Given the description of an element on the screen output the (x, y) to click on. 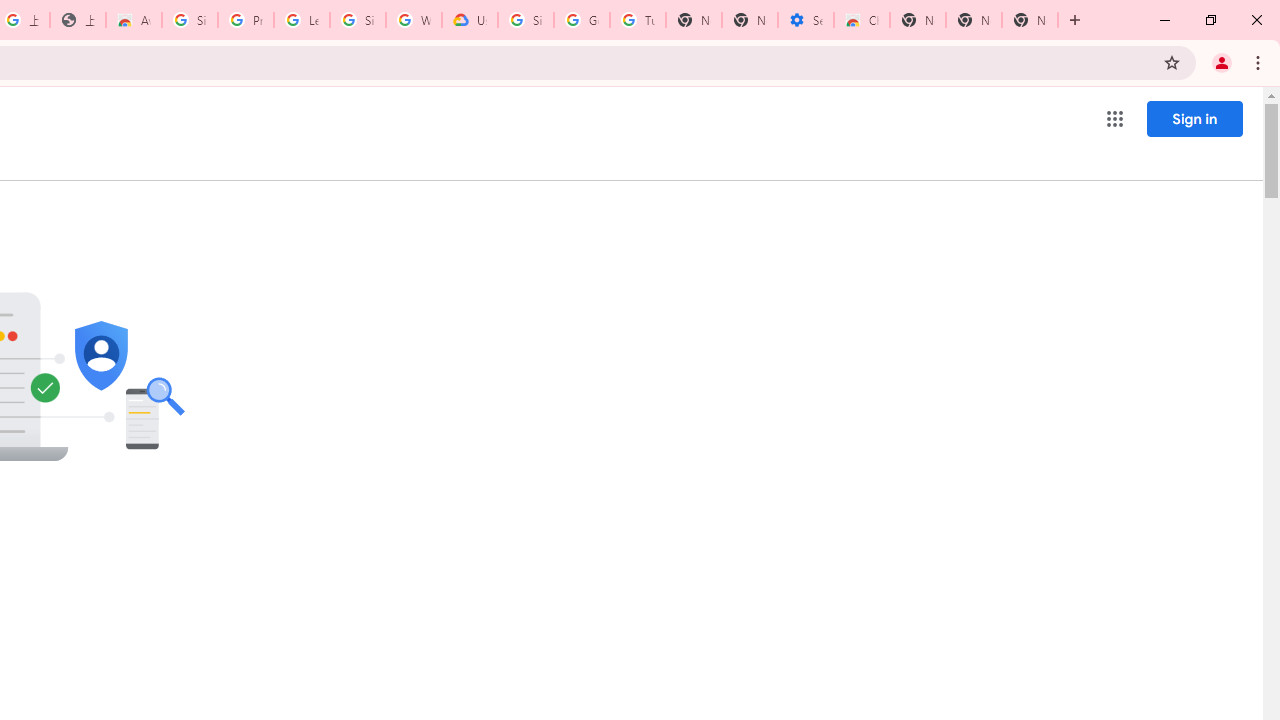
New Tab (1030, 20)
Turn cookies on or off - Computer - Google Account Help (637, 20)
New Tab (917, 20)
Chrome Web Store - Accessibility extensions (861, 20)
Settings - Accessibility (806, 20)
Sign in - Google Accounts (525, 20)
Google Account Help (582, 20)
